Given the description of an element on the screen output the (x, y) to click on. 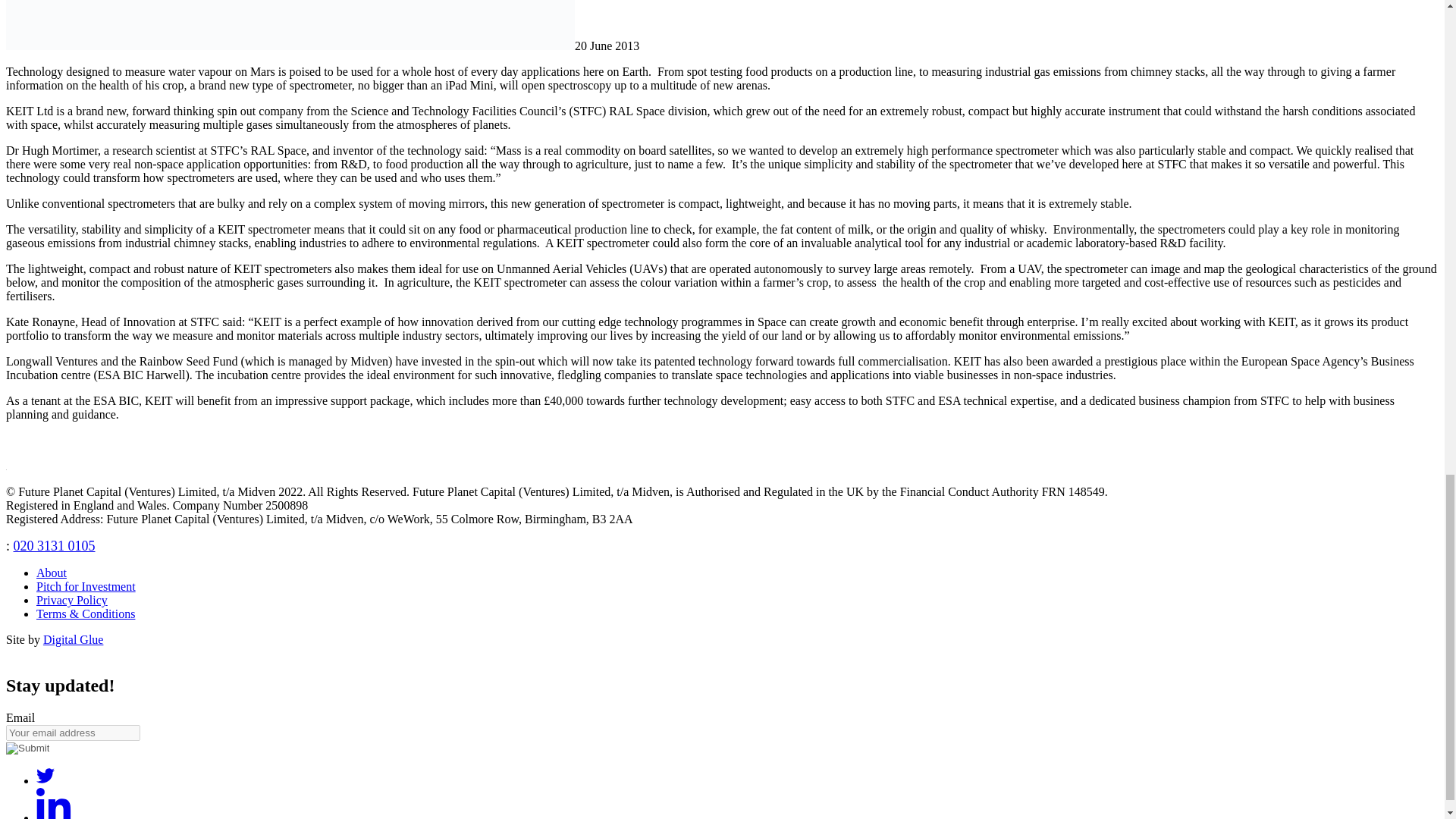
Digital Glue (73, 639)
About (51, 572)
Privacy Policy (71, 599)
020 3131 0105 (54, 545)
Pitch for Investment (85, 585)
